Given the description of an element on the screen output the (x, y) to click on. 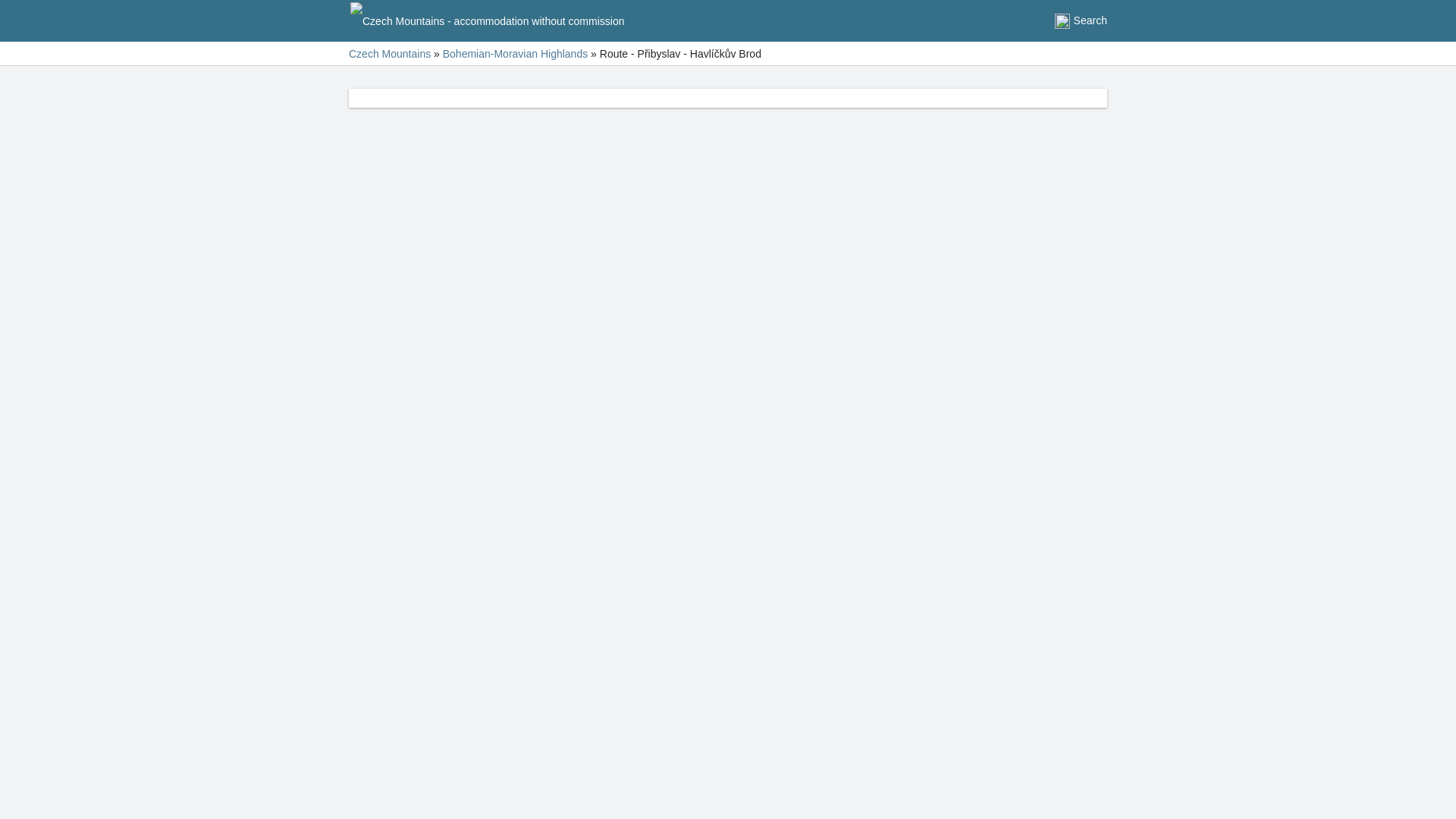
Bohemian-Moravian Highlands (515, 53)
Czech Mountains - accommodation without commission (487, 21)
Czech Mountains - accommodation without commission (389, 53)
Czech Mountains - accommodation without commission (486, 20)
Czech Mountains (389, 53)
Search (1080, 20)
